Given the description of an element on the screen output the (x, y) to click on. 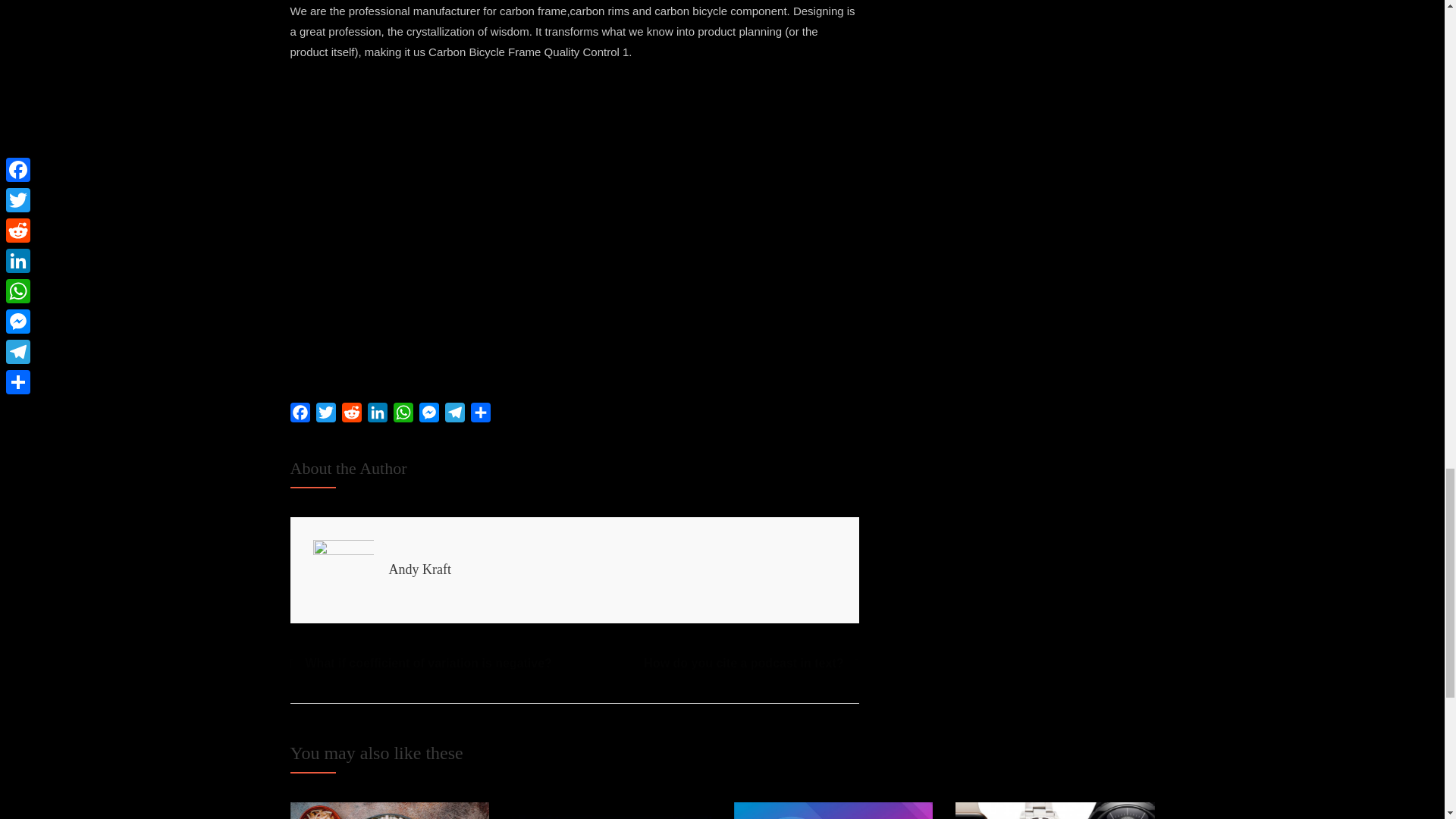
WhatsApp (402, 415)
LinkedIn (377, 415)
Telegram (454, 415)
Reddit (350, 415)
Twitter (325, 415)
Twitter (325, 415)
Share (480, 415)
LinkedIn (377, 415)
How do you cite a podcast in text? (751, 663)
Messenger (427, 415)
WhatsApp (402, 415)
Andy Kraft (418, 569)
What if coefficient of variation is negative? (420, 663)
Messenger (427, 415)
